Given the description of an element on the screen output the (x, y) to click on. 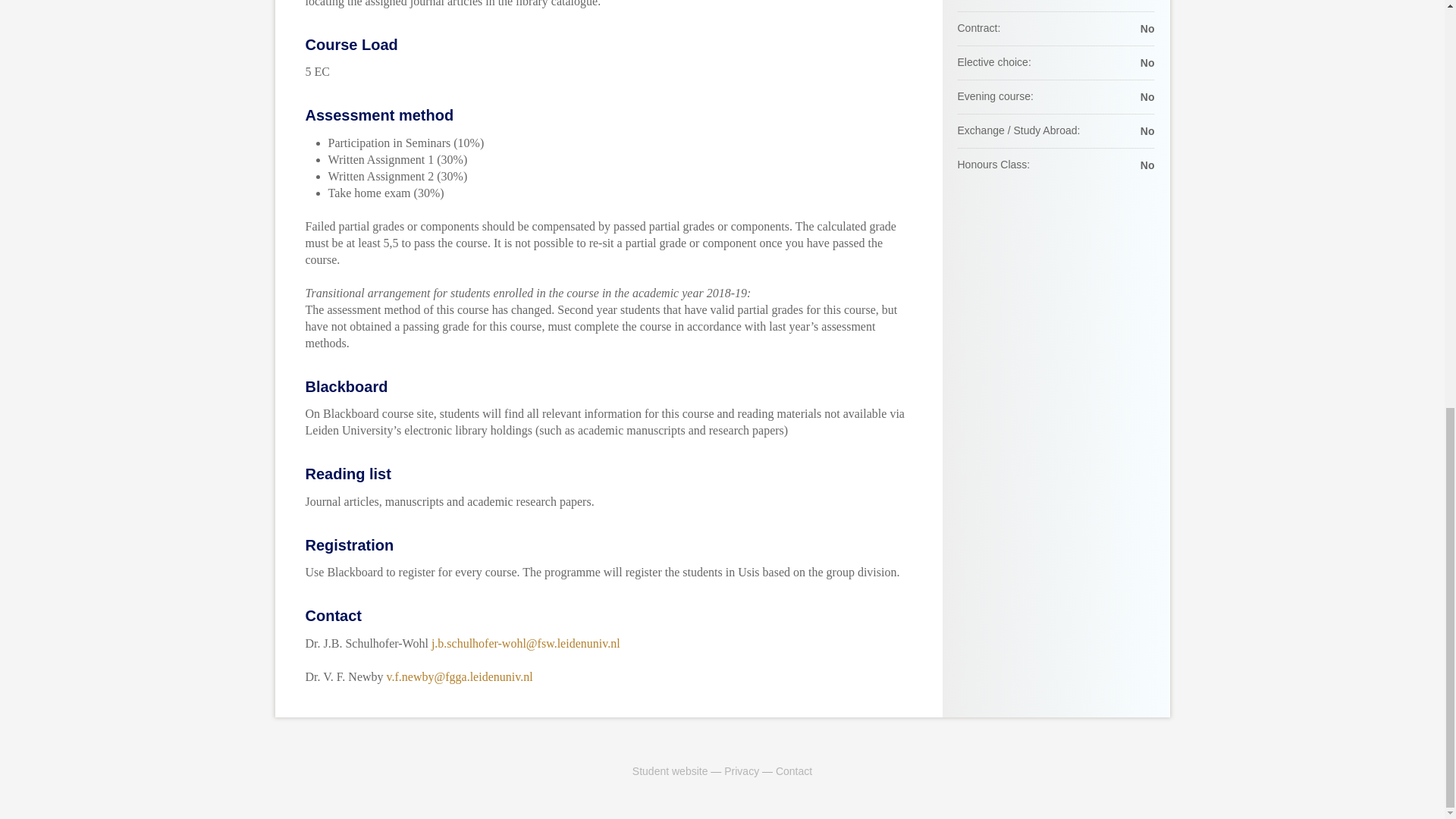
Student website (669, 770)
Contact (794, 770)
Privacy (740, 770)
